Given the description of an element on the screen output the (x, y) to click on. 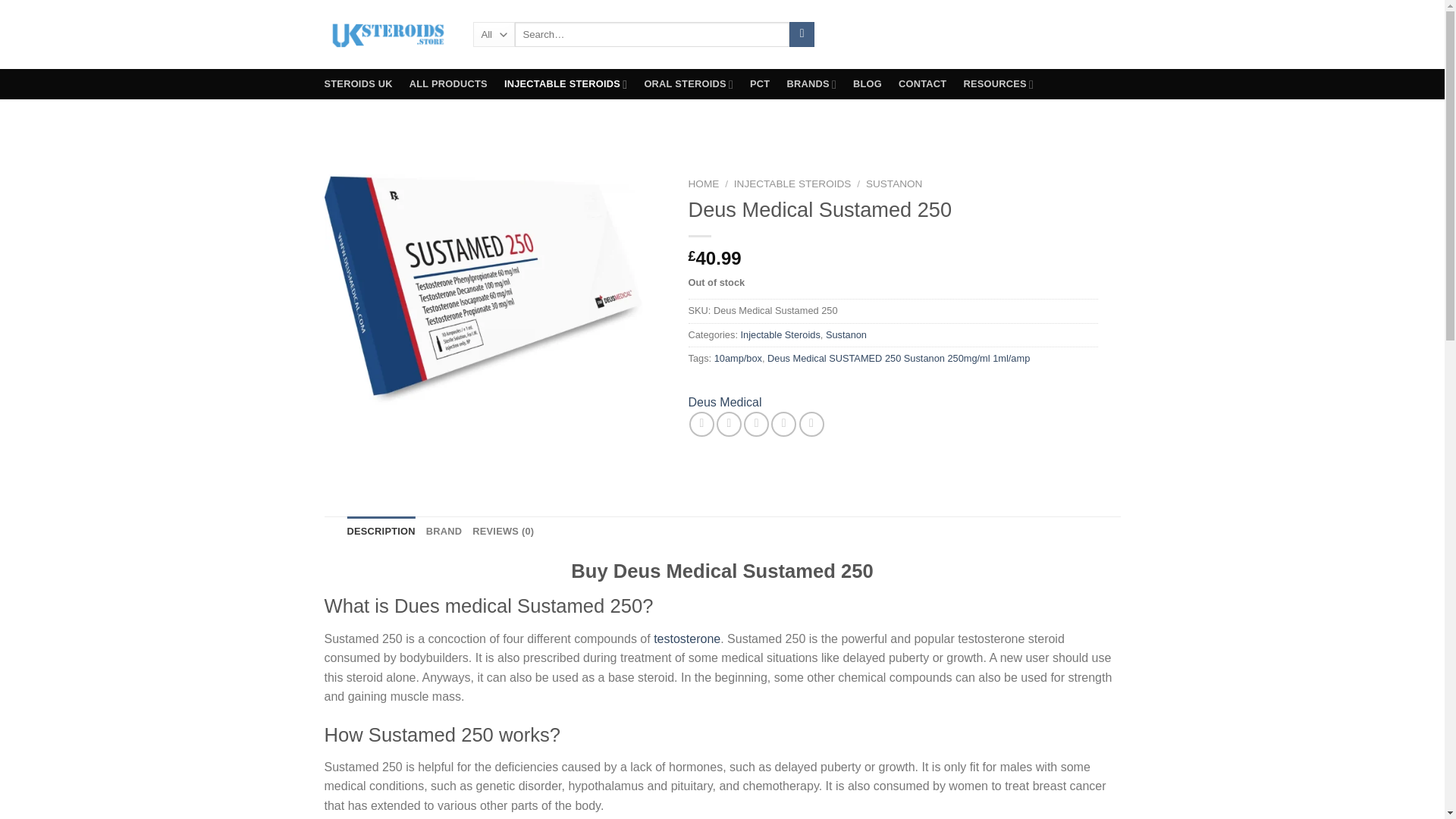
ALL PRODUCTS (448, 83)
View brand (724, 402)
Share on Facebook (701, 423)
RESOURCES (997, 83)
Search (801, 34)
BLOG (867, 83)
Share on Twitter (728, 423)
Basket (1050, 34)
UK Steroids Store - Buy UK Steroids (386, 34)
Email to a Friend (756, 423)
Pin on Pinterest (783, 423)
BRANDS (810, 83)
CONTACT (922, 83)
STEROIDS UK (358, 83)
Testosterone (686, 638)
